Given the description of an element on the screen output the (x, y) to click on. 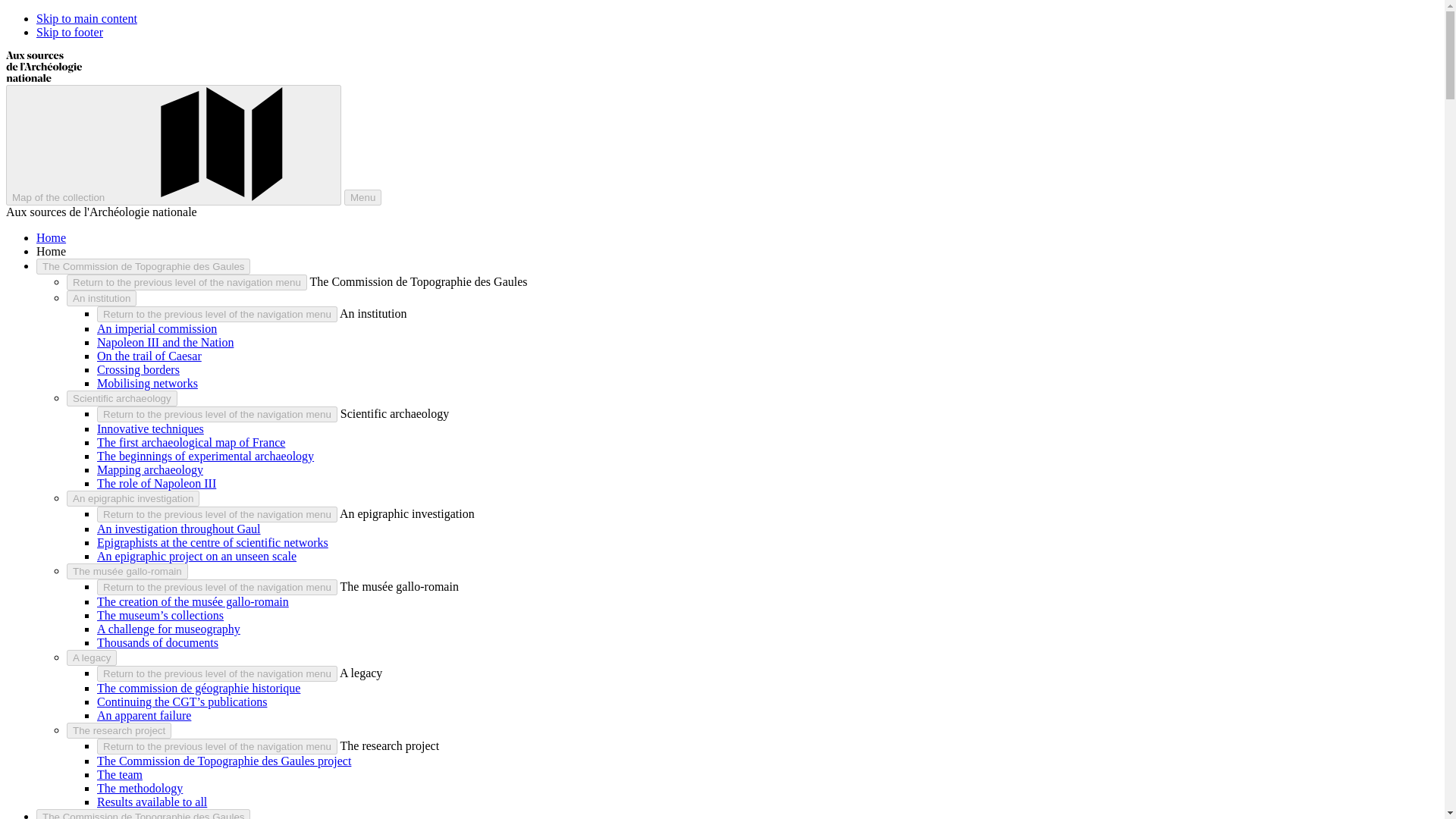
The Commission de Topographie des Gaules (143, 266)
Return to the previous level of the navigation menu (217, 587)
Napoleon III and the Nation (164, 341)
An epigraphic investigation (132, 498)
Home (50, 237)
Return to the previous level of the navigation menu (217, 314)
The first archaeological map of France (191, 441)
Return to the previous level of the navigation menu (217, 673)
A legacy (91, 657)
On the trail of Caesar (149, 355)
An investigation throughout Gaul (178, 528)
Menu (362, 197)
A challenge for museography (168, 628)
An imperial commission (156, 328)
The research project (118, 730)
